Given the description of an element on the screen output the (x, y) to click on. 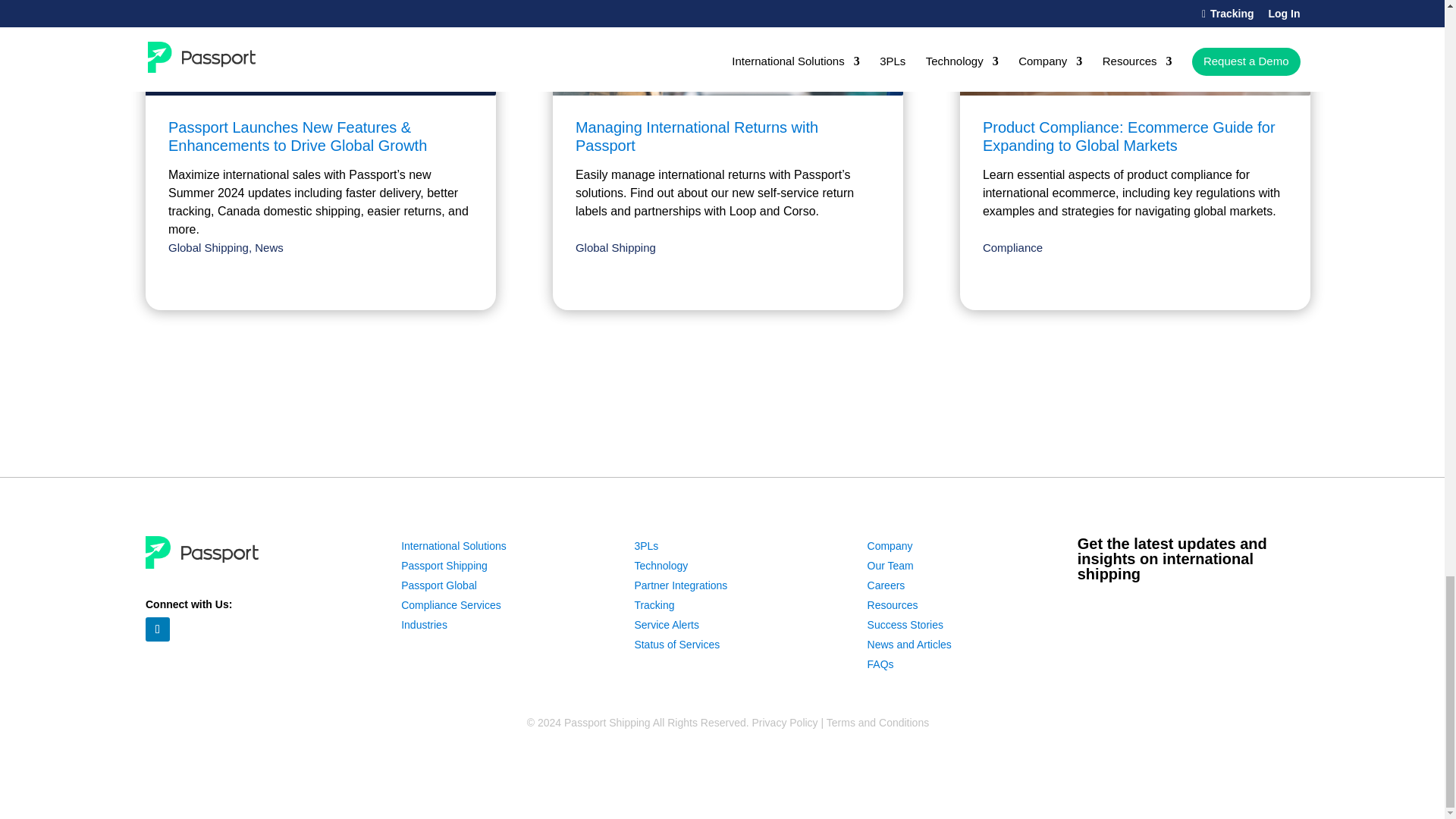
Follow on LinkedIn (157, 629)
